Given the description of an element on the screen output the (x, y) to click on. 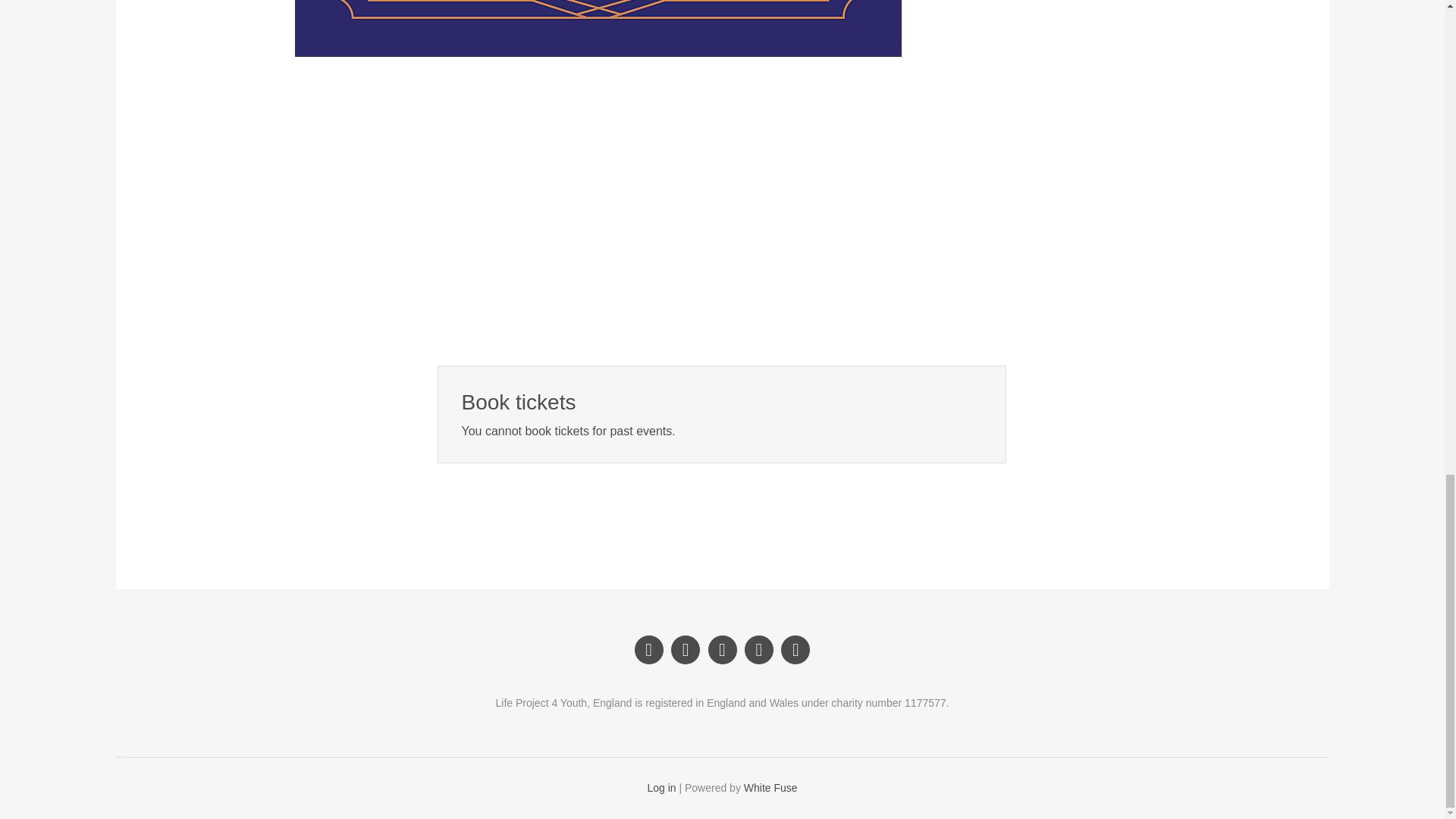
Log in (660, 787)
White Fuse (770, 787)
